Given the description of an element on the screen output the (x, y) to click on. 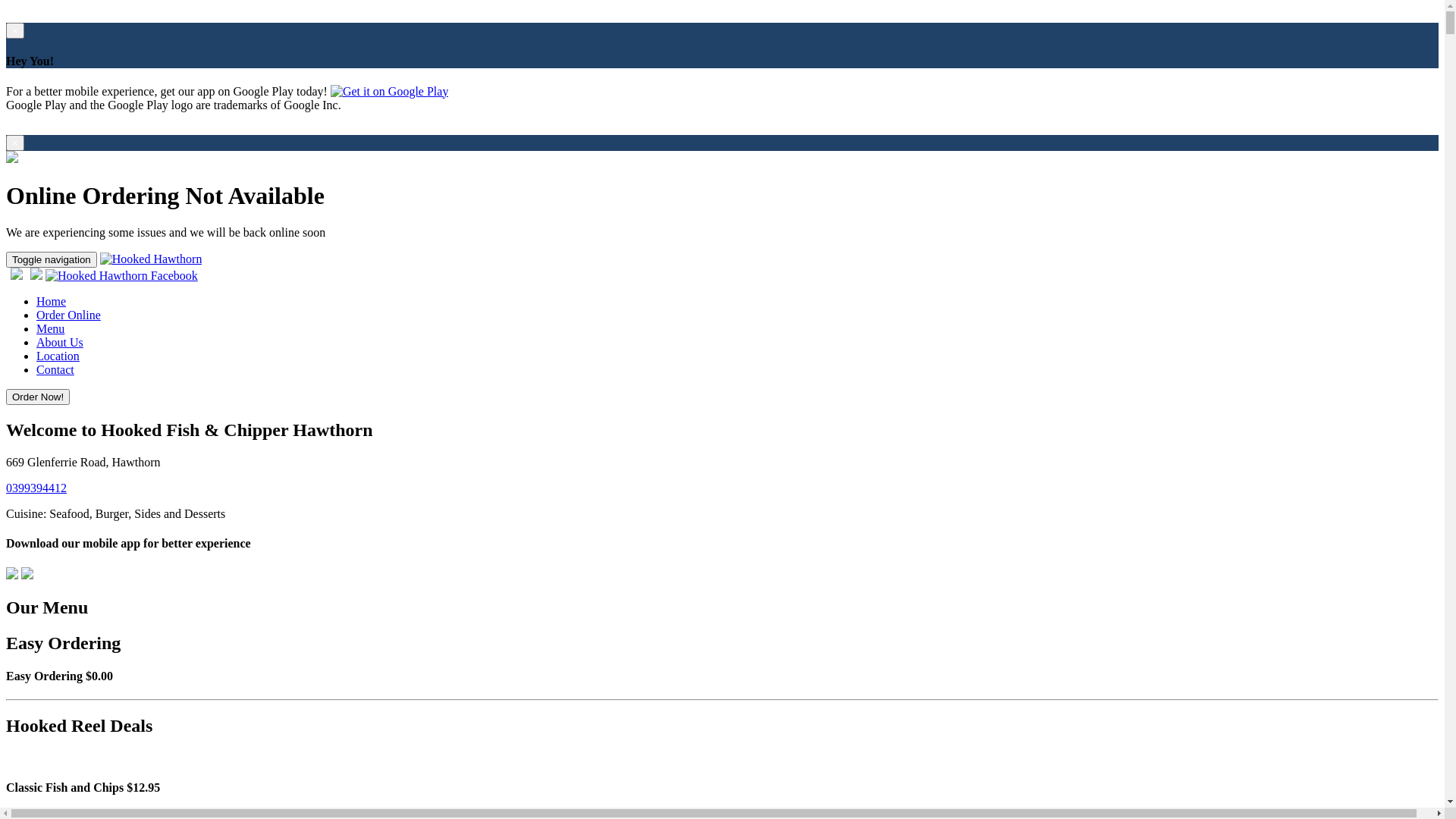
About Us Element type: text (59, 341)
0399394412 Element type: text (36, 487)
Menu Element type: text (50, 328)
Home Element type: text (50, 300)
Order Now! Element type: text (37, 395)
Order Online Element type: text (68, 314)
Toggle navigation Element type: text (51, 259)
Contact Element type: text (55, 369)
Order Now! Element type: text (37, 396)
Location Element type: text (57, 355)
